Given the description of an element on the screen output the (x, y) to click on. 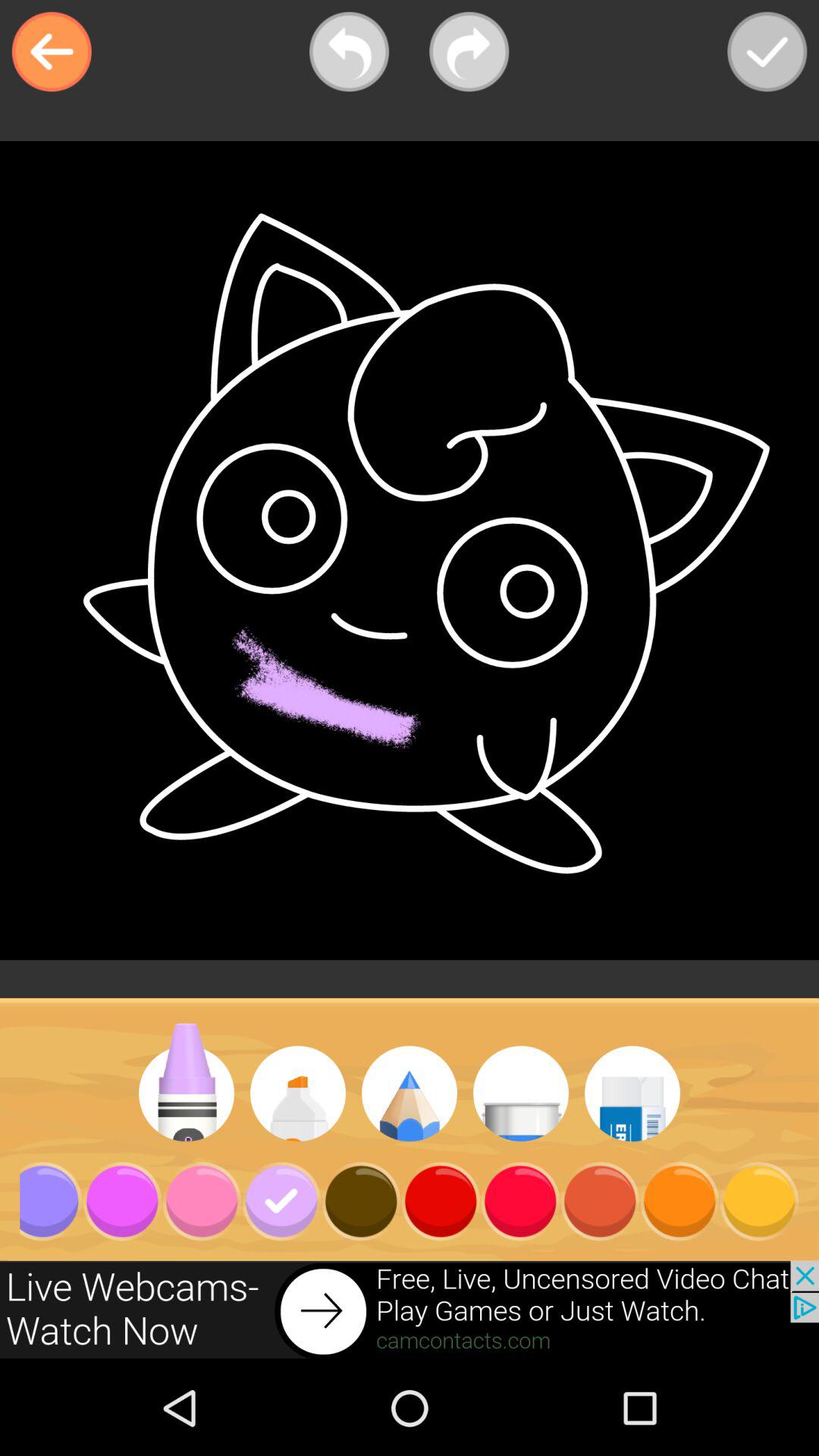
go back (51, 51)
